Given the description of an element on the screen output the (x, y) to click on. 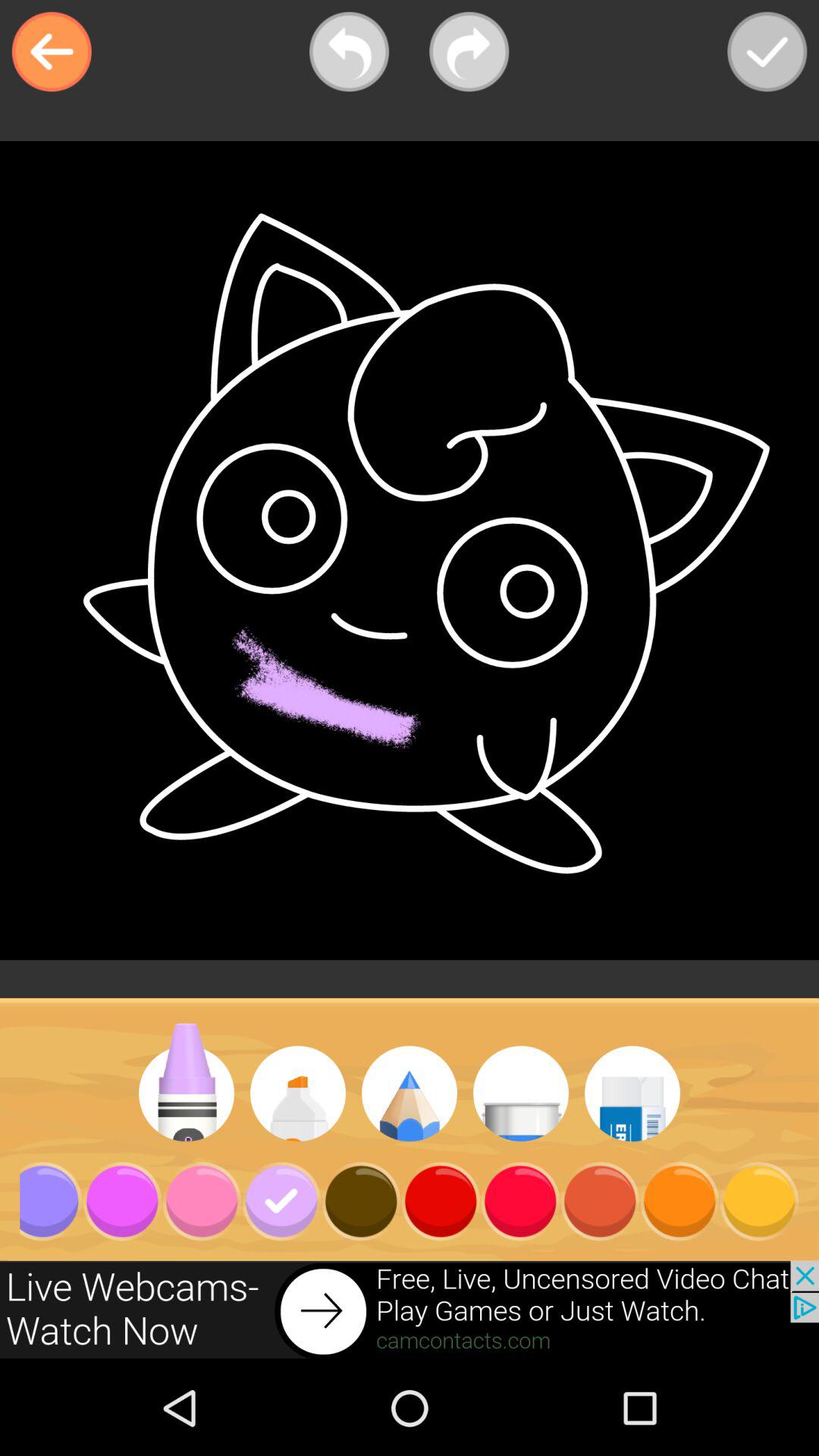
go back (51, 51)
